Given the description of an element on the screen output the (x, y) to click on. 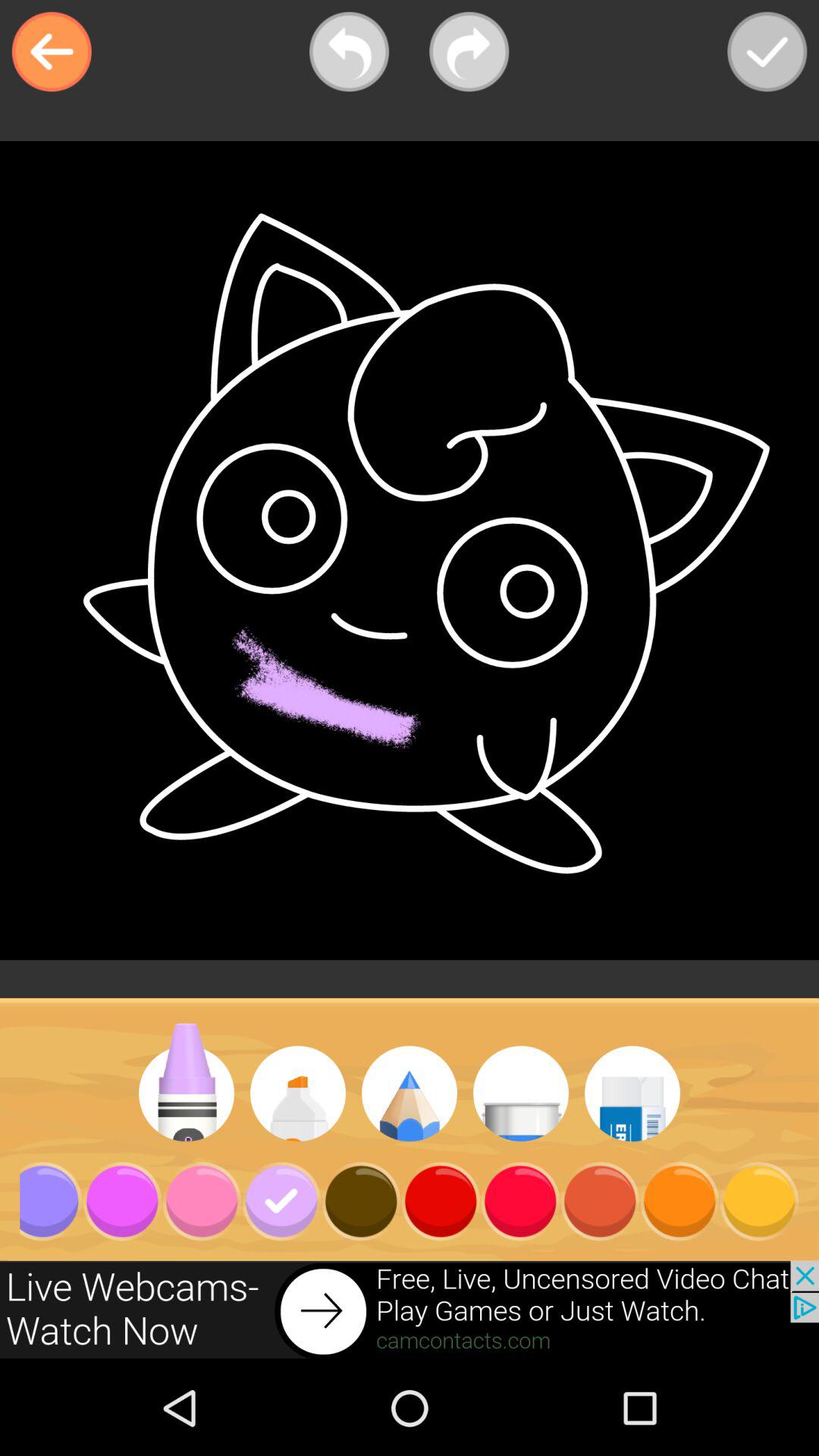
go back (51, 51)
